Given the description of an element on the screen output the (x, y) to click on. 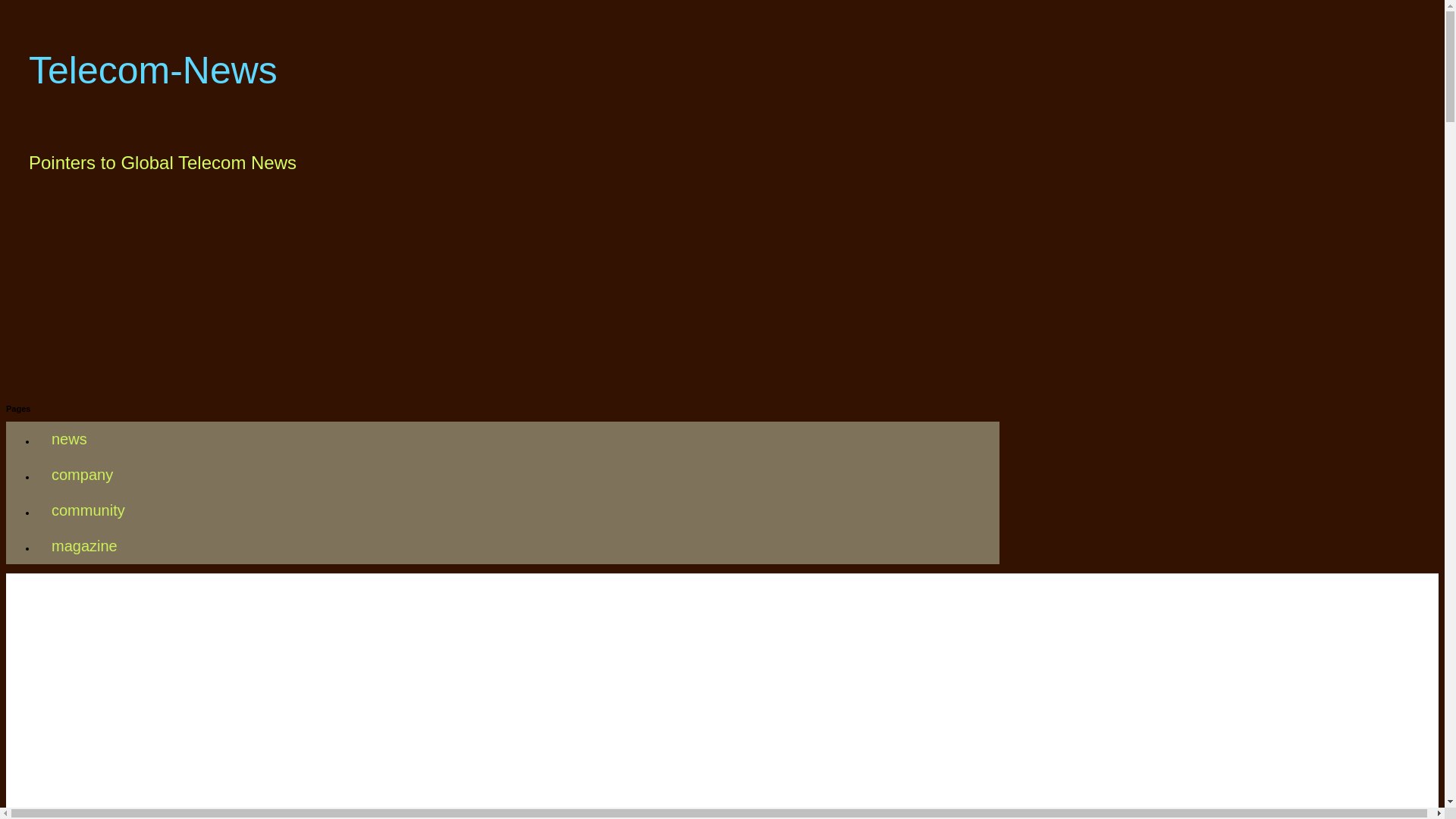
Telecom-News (153, 69)
community (87, 510)
Advertisement (502, 703)
company (82, 475)
magazine (84, 546)
news (68, 439)
